Given the description of an element on the screen output the (x, y) to click on. 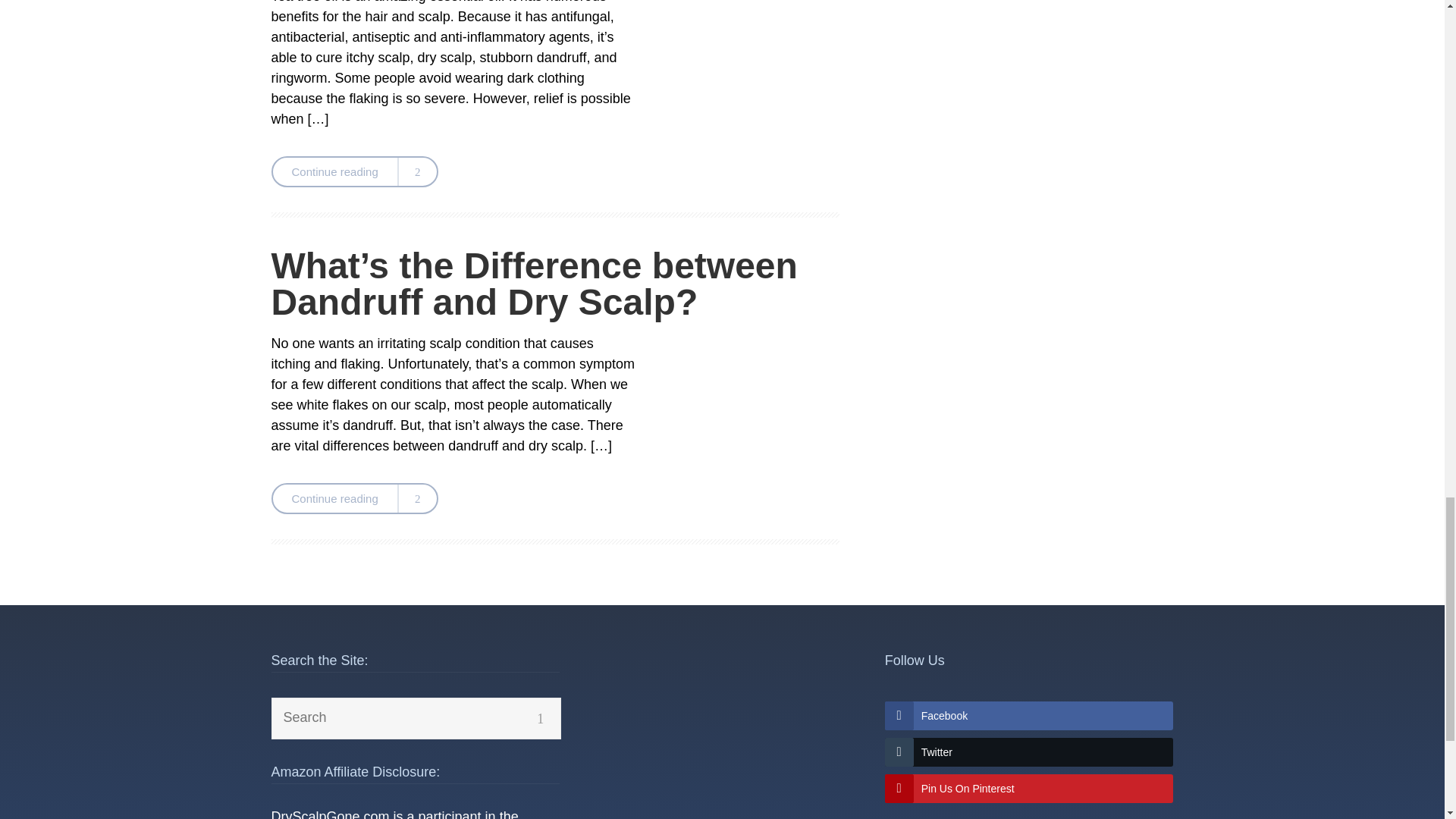
Continue reading (354, 498)
Facebook (1029, 715)
dandruff vs dry scalp (744, 396)
Continue reading (354, 171)
Are scalp fungal infections contagious (744, 56)
